Given the description of an element on the screen output the (x, y) to click on. 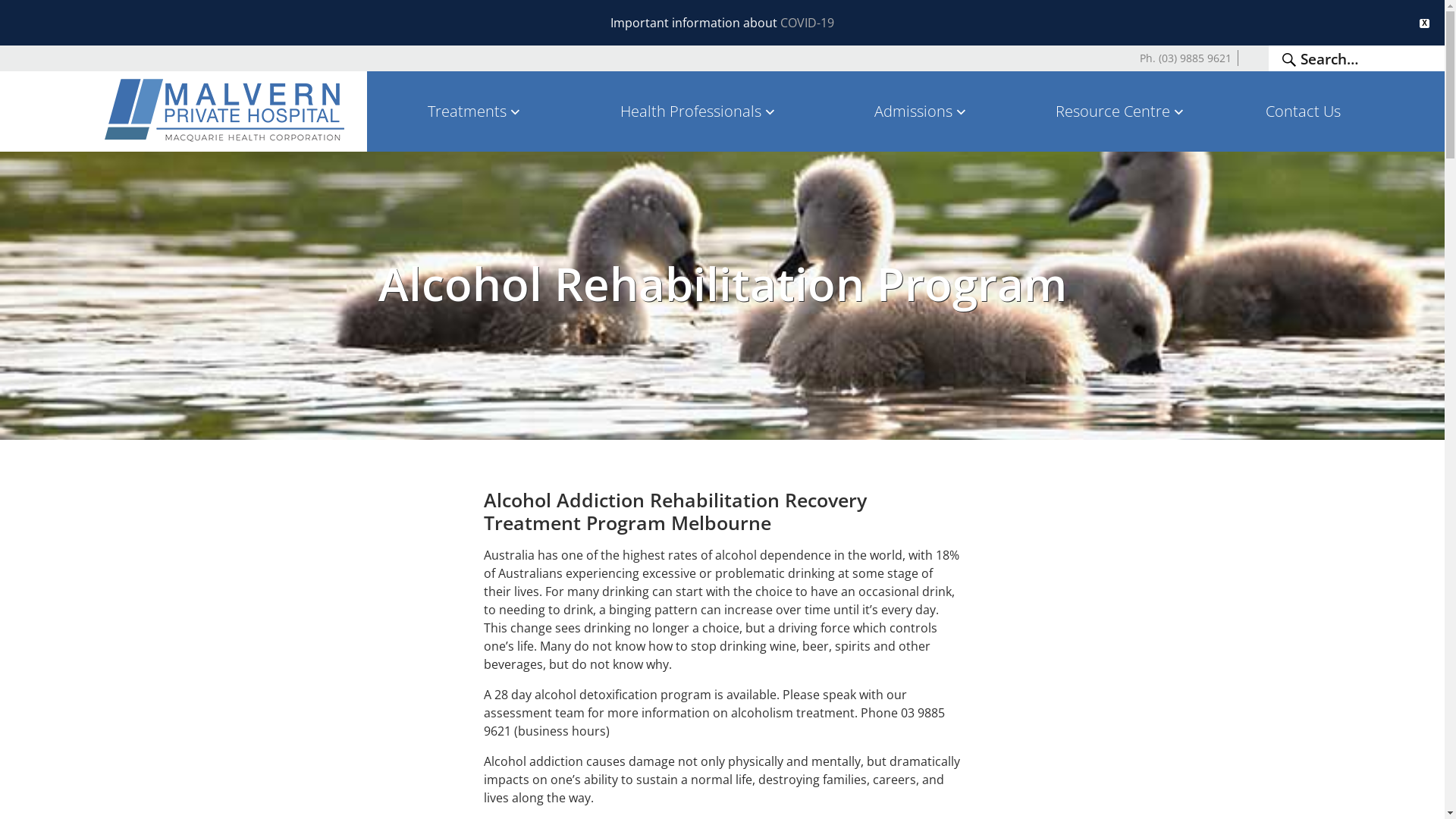
Contact Us Element type: text (1302, 111)
Resource Centre Element type: text (1120, 111)
Admissions Element type: text (921, 111)
COVID-19 Element type: text (807, 22)
Health Professionals Element type: text (698, 111)
Treatments Element type: text (475, 111)
Ph. (03) 9885 9621 Element type: text (1185, 57)
